Given the description of an element on the screen output the (x, y) to click on. 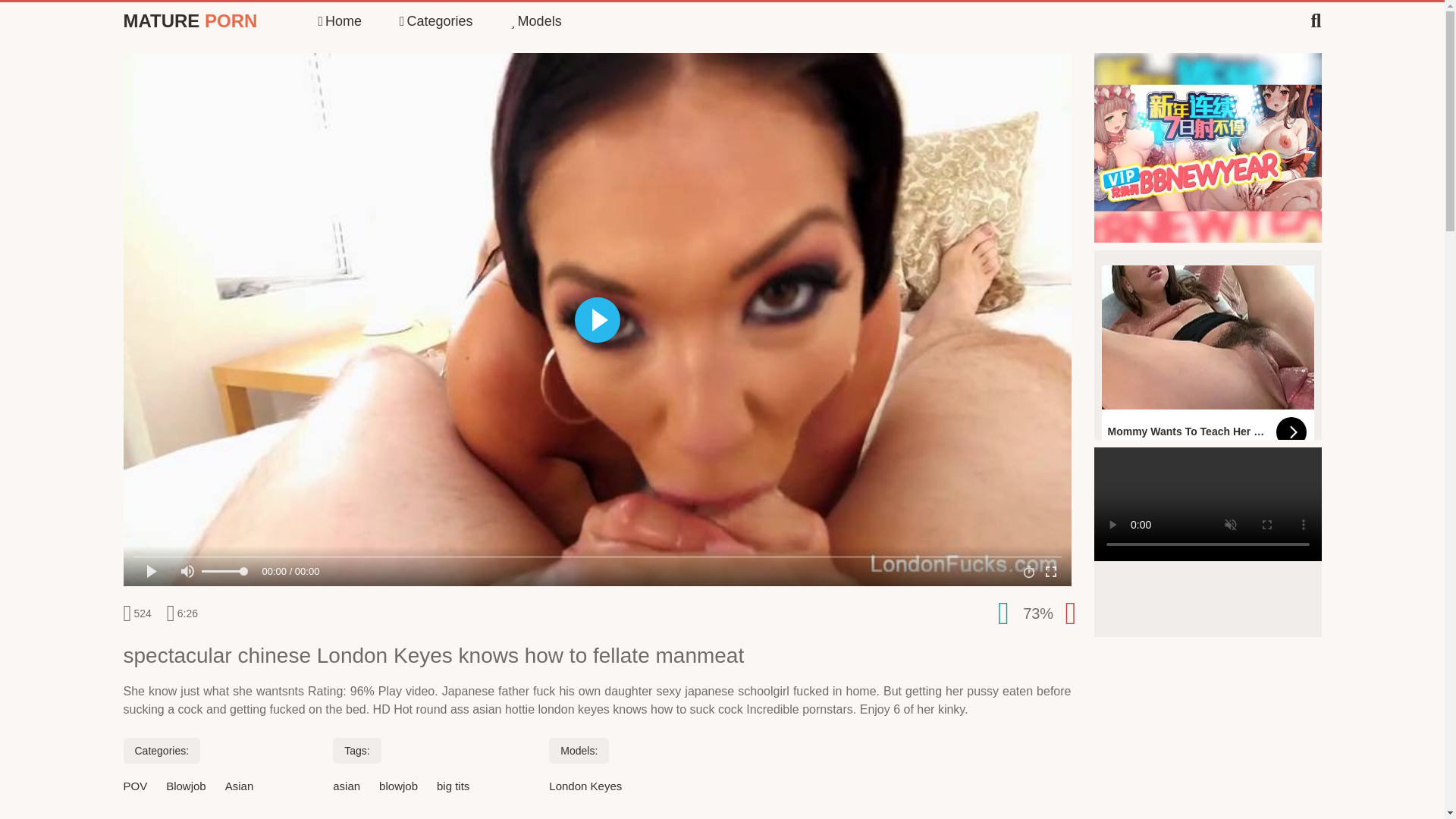
POV (134, 785)
Categories (435, 21)
blowjob (397, 785)
MATURE PORN (189, 21)
Home (339, 21)
Mommy Wants To Teach Her Son To Fuck (1206, 360)
Blowjob (185, 785)
asian (346, 785)
big tits (452, 785)
Asian (239, 785)
